Given the description of an element on the screen output the (x, y) to click on. 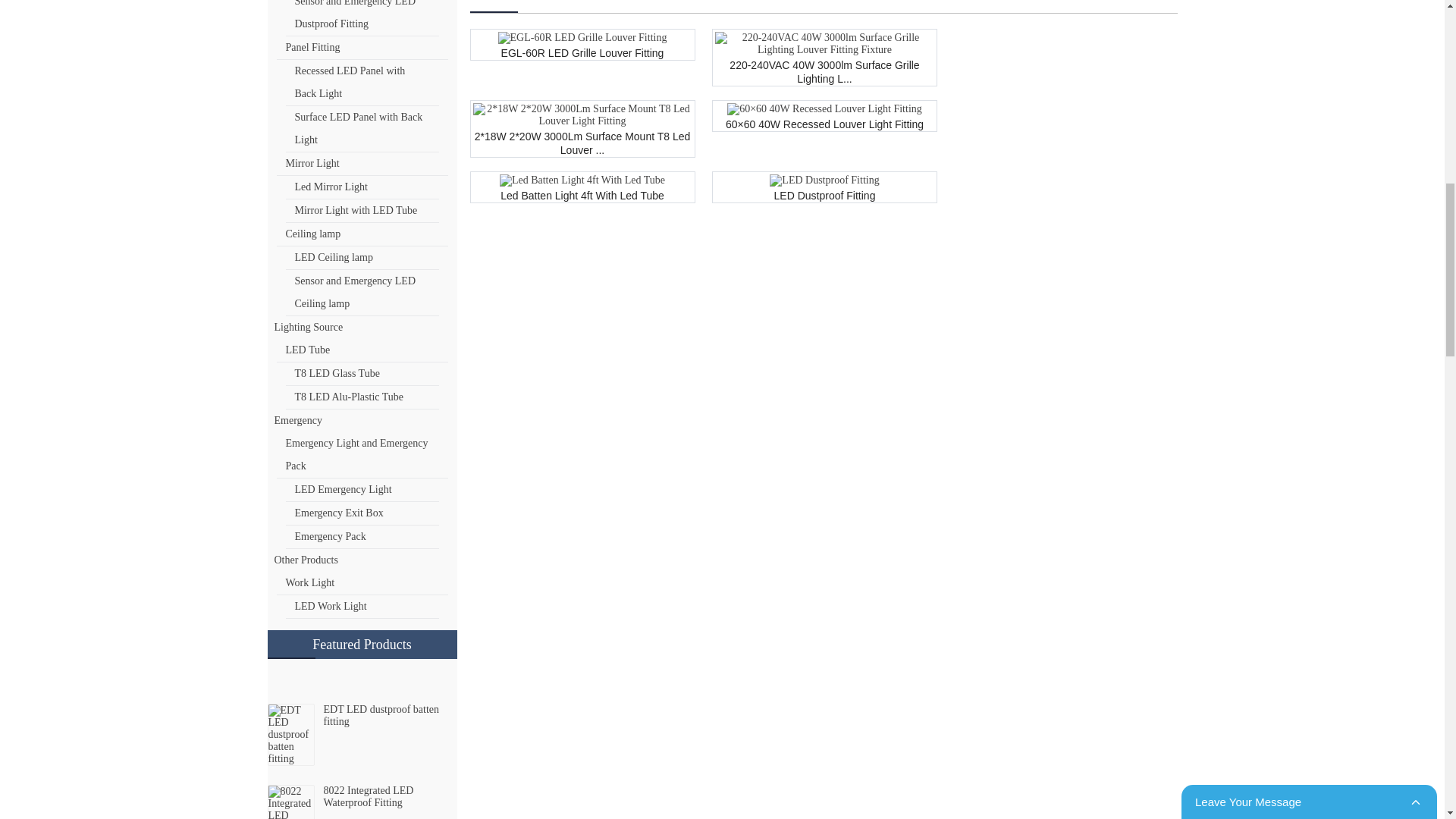
LED Dustproof Fitting (823, 179)
EGL-60R LED Grille Louver Fitting (582, 36)
Led Batten Light 4ft With Led Tube (581, 179)
